Given the description of an element on the screen output the (x, y) to click on. 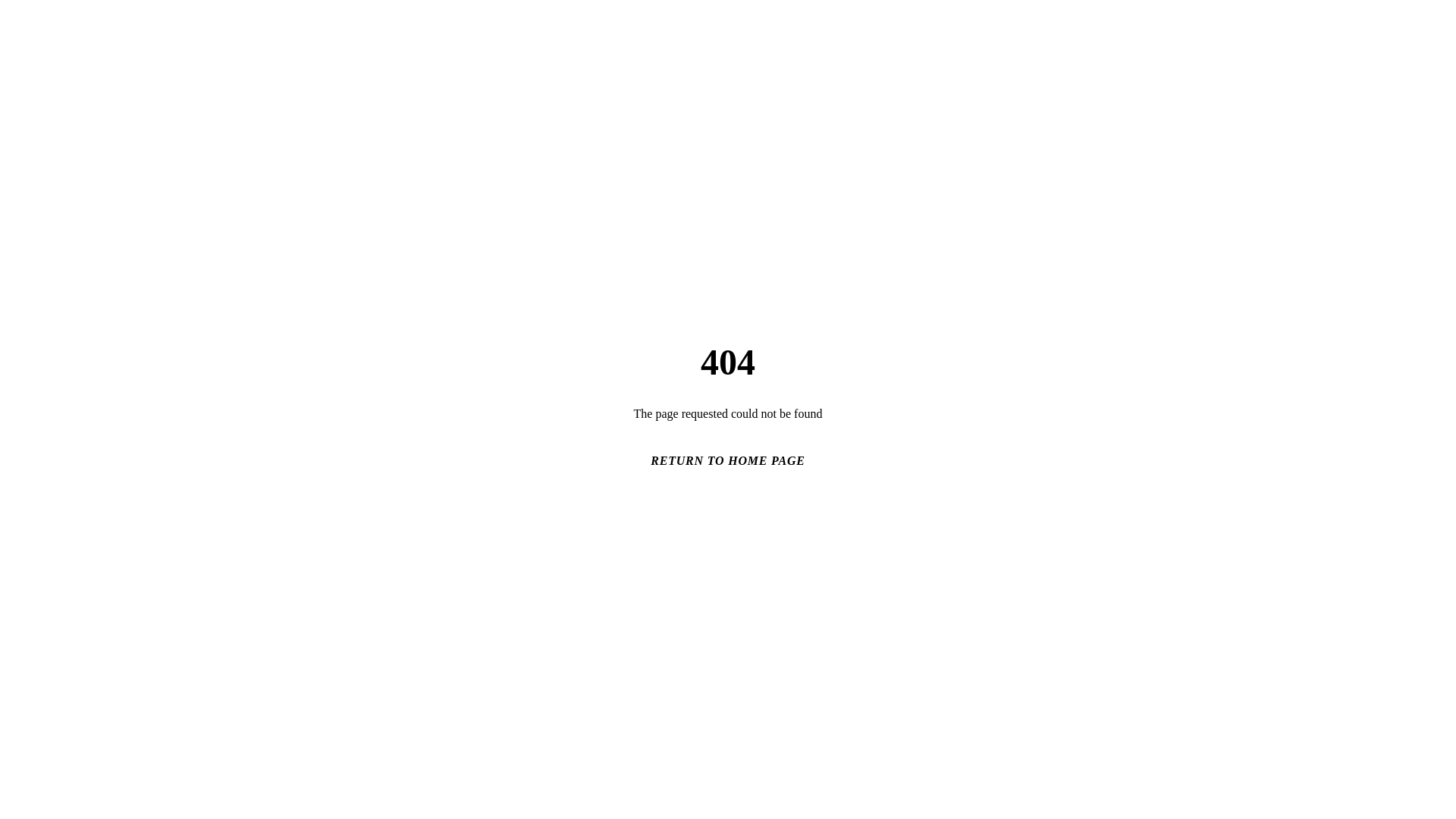
RETURN TO HOME PAGE Element type: text (727, 460)
